Given the description of an element on the screen output the (x, y) to click on. 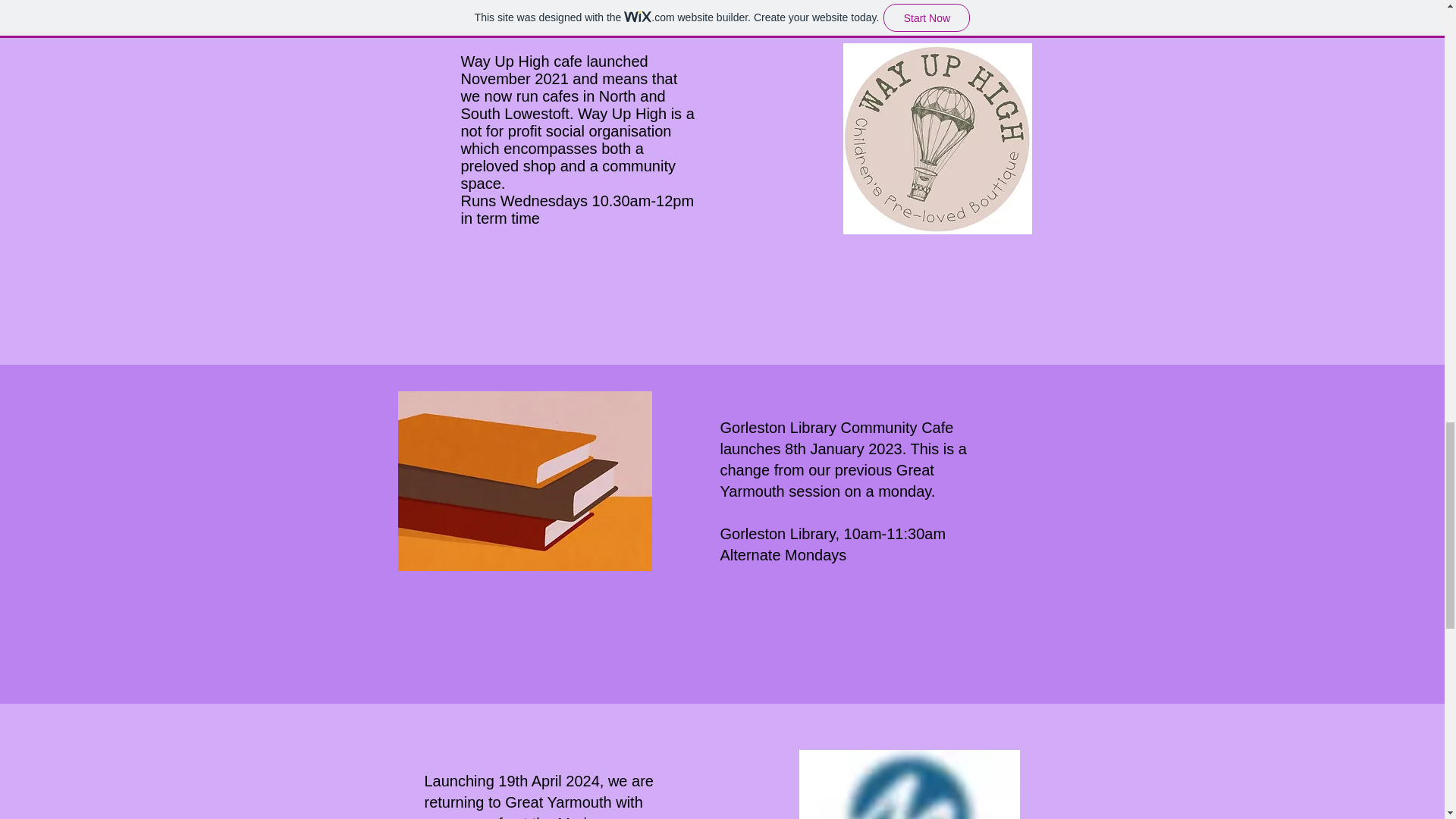
Pile of Books (523, 480)
